Given the description of an element on the screen output the (x, y) to click on. 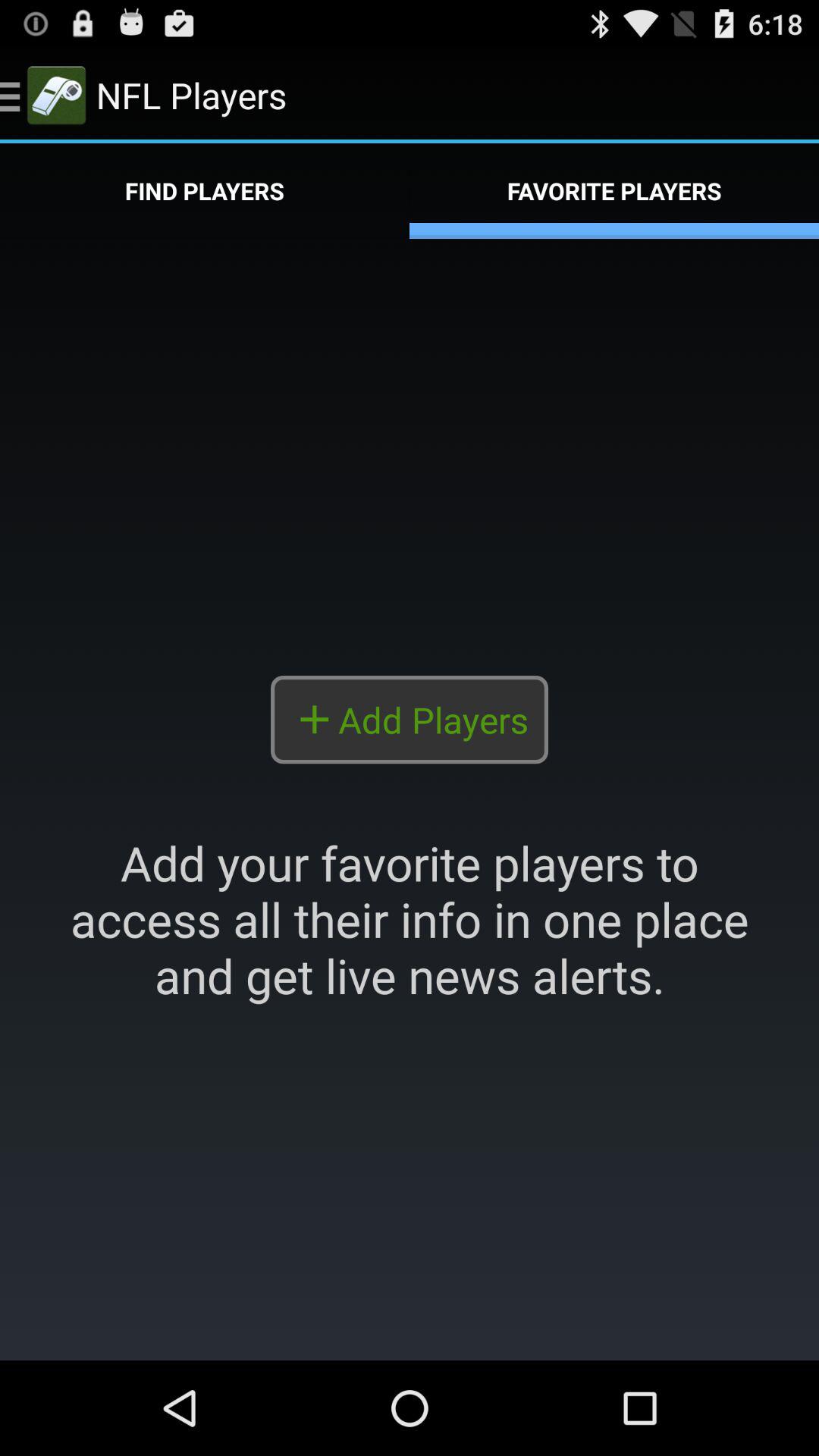
choose app next to favorite players app (204, 190)
